Given the description of an element on the screen output the (x, y) to click on. 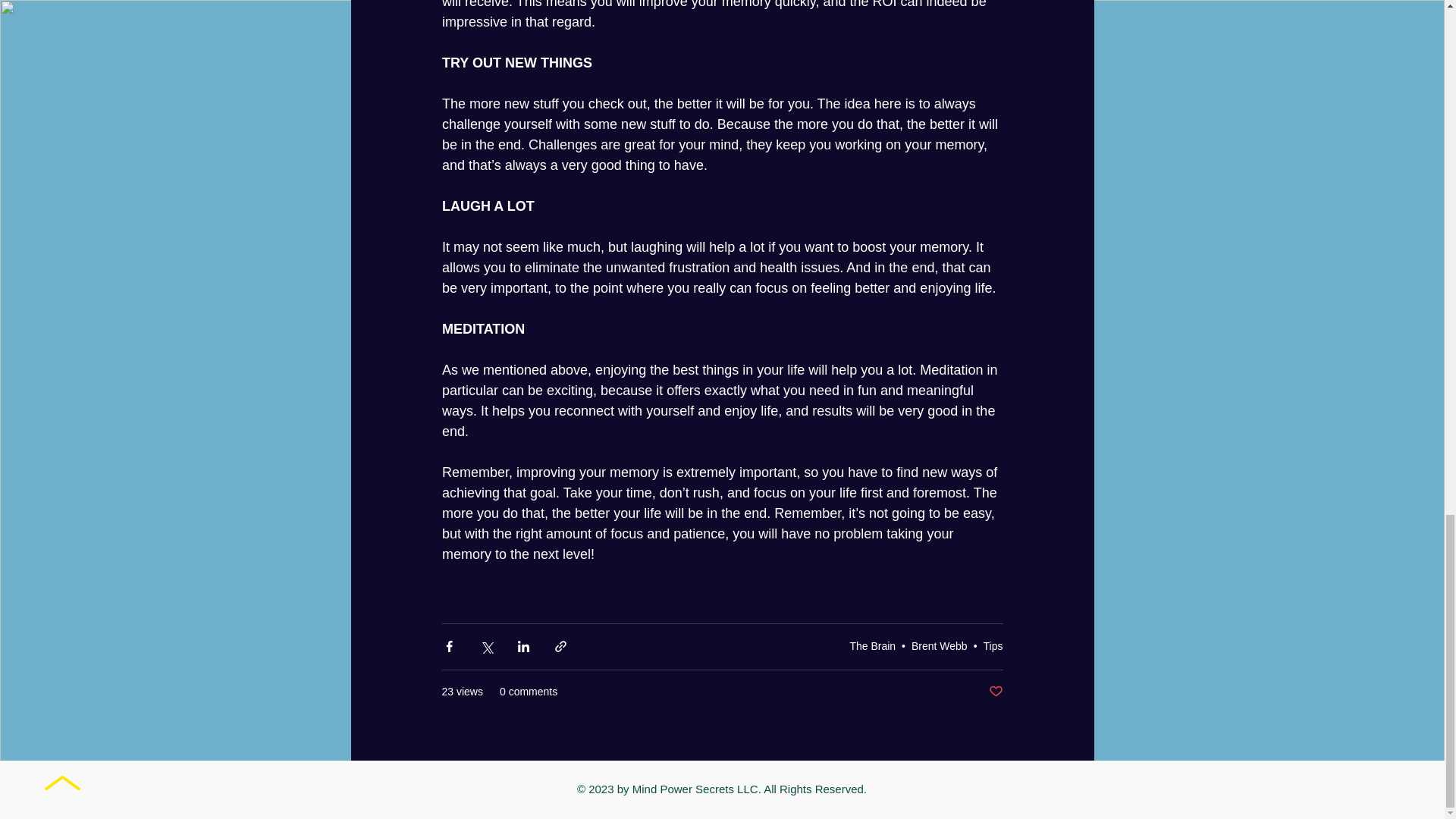
Brent Webb (939, 645)
Post not marked as liked (995, 691)
Tips (993, 645)
The Brain (871, 645)
